Given the description of an element on the screen output the (x, y) to click on. 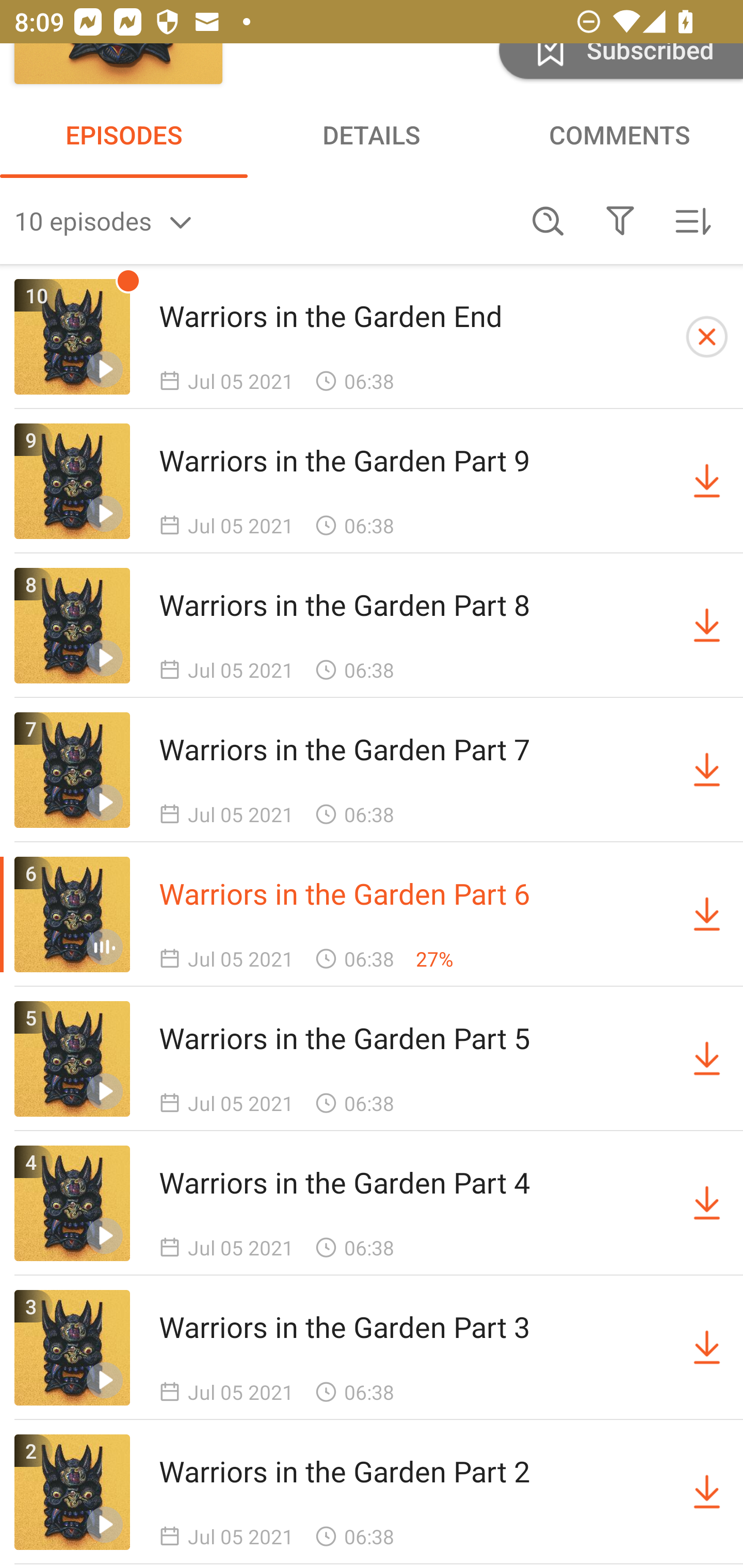
EPISODES (123, 133)
DETAILS (371, 133)
COMMENTS (619, 133)
10 episodes  (262, 220)
 Search (547, 221)
 (619, 221)
 Sorted by newest first (692, 221)
Cancel Downloading (706, 337)
Download (706, 481)
Download (706, 625)
Download (706, 769)
Download (706, 914)
Download (706, 1058)
Download (706, 1203)
Download (706, 1347)
Download (706, 1491)
